Given the description of an element on the screen output the (x, y) to click on. 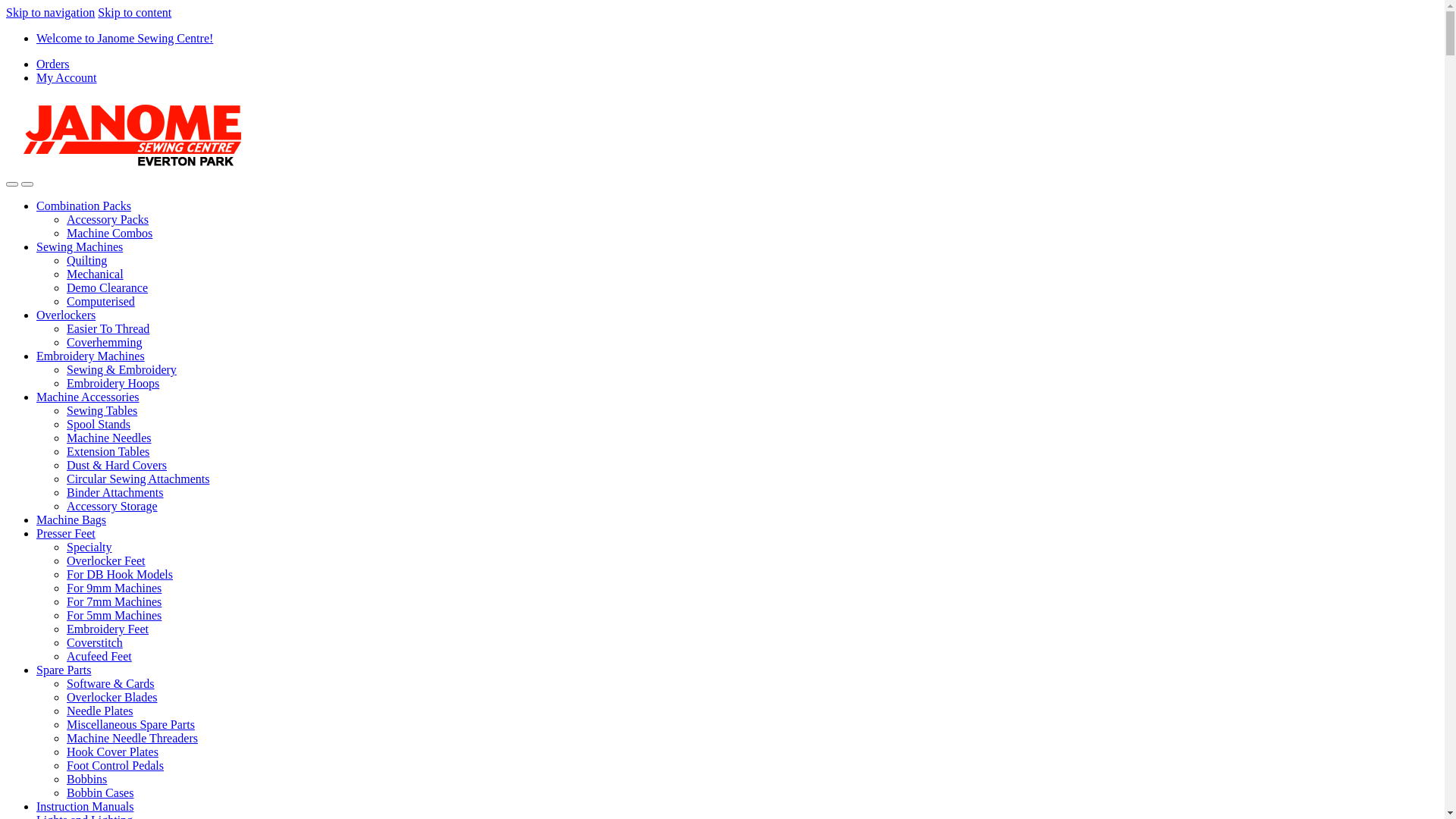
Skip to content Element type: text (134, 12)
Easier To Thread Element type: text (107, 328)
Miscellaneous Spare Parts Element type: text (130, 724)
Extension Tables Element type: text (107, 451)
Mechanical Element type: text (94, 273)
Foot Control Pedals Element type: text (114, 765)
For 5mm Machines Element type: text (113, 614)
Software & Cards Element type: text (110, 683)
Specialty Element type: text (89, 546)
My Account Element type: text (66, 77)
Machine Needle Threaders Element type: text (131, 737)
Sewing & Embroidery Element type: text (121, 369)
Spare Parts Element type: text (63, 669)
Machine Needles Element type: text (108, 437)
Overlockers Element type: text (65, 314)
Bobbins Element type: text (86, 778)
Needle Plates Element type: text (99, 710)
Demo Clearance Element type: text (106, 287)
Machine Combos Element type: text (109, 232)
Sewing Machines Element type: text (79, 246)
Skip to navigation Element type: text (50, 12)
For 9mm Machines Element type: text (113, 587)
Embroidery Feet Element type: text (107, 628)
Machine Accessories Element type: text (87, 396)
Bobbin Cases Element type: text (99, 792)
Combination Packs Element type: text (83, 205)
Coverhemming Element type: text (104, 341)
Overlocker Blades Element type: text (111, 696)
Machine Bags Element type: text (71, 519)
Overlocker Feet Element type: text (105, 560)
Accessory Packs Element type: text (107, 219)
For 7mm Machines Element type: text (113, 601)
Hook Cover Plates Element type: text (112, 751)
Presser Feet Element type: text (65, 533)
Circular Sewing Attachments Element type: text (137, 478)
Dust & Hard Covers Element type: text (116, 464)
Embroidery Hoops Element type: text (112, 382)
Quilting Element type: text (86, 260)
Instruction Manuals Element type: text (84, 806)
Acufeed Feet Element type: text (98, 655)
Sewing Tables Element type: text (101, 410)
Coverstitch Element type: text (94, 642)
Accessory Storage Element type: text (111, 505)
Computerised Element type: text (100, 300)
Spool Stands Element type: text (98, 423)
Orders Element type: text (52, 63)
For DB Hook Models Element type: text (119, 573)
Embroidery Machines Element type: text (90, 355)
Welcome to Janome Sewing Centre! Element type: text (124, 37)
Binder Attachments Element type: text (114, 492)
